Given the description of an element on the screen output the (x, y) to click on. 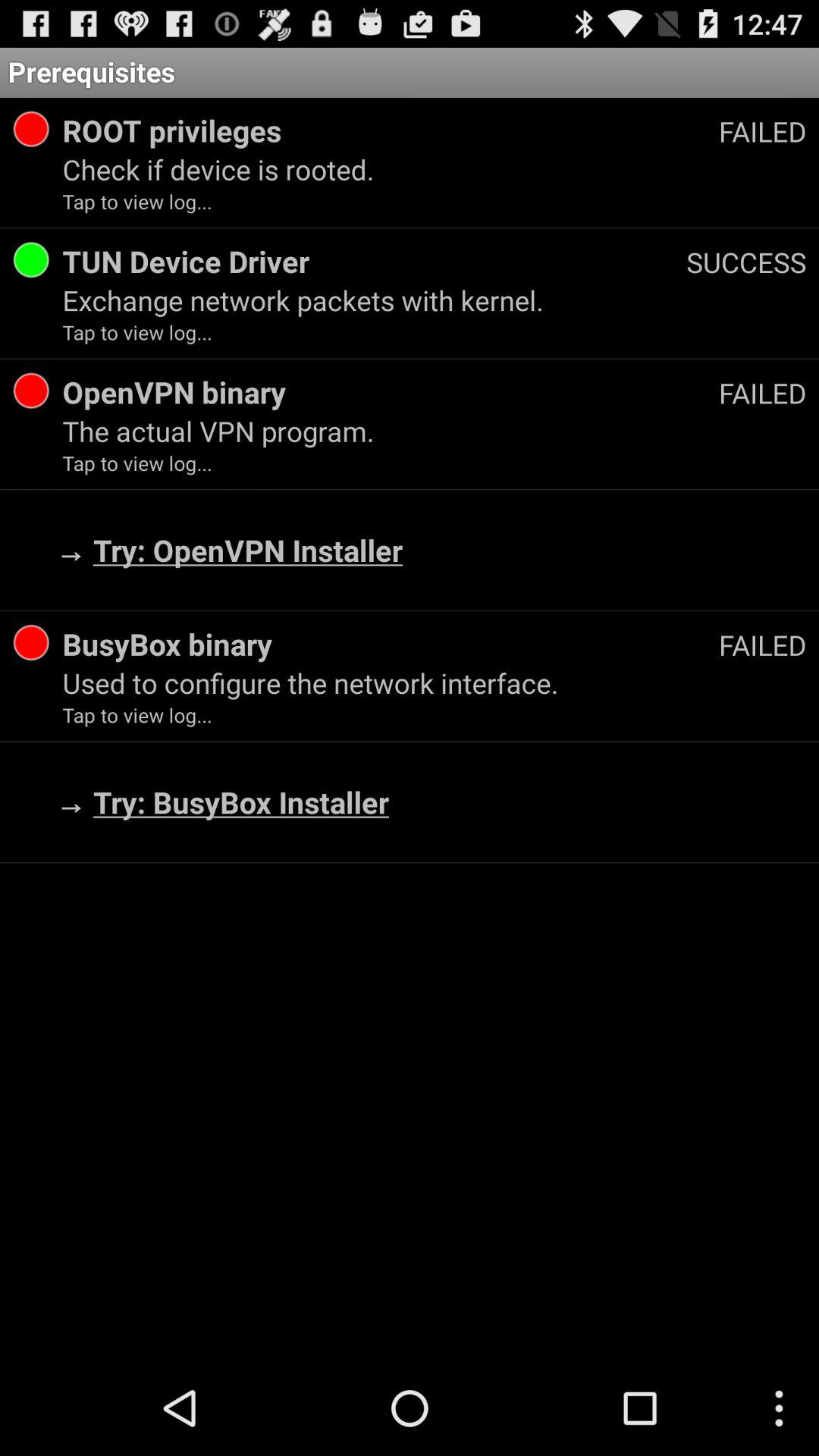
click the icon above the tap to view (434, 430)
